Given the description of an element on the screen output the (x, y) to click on. 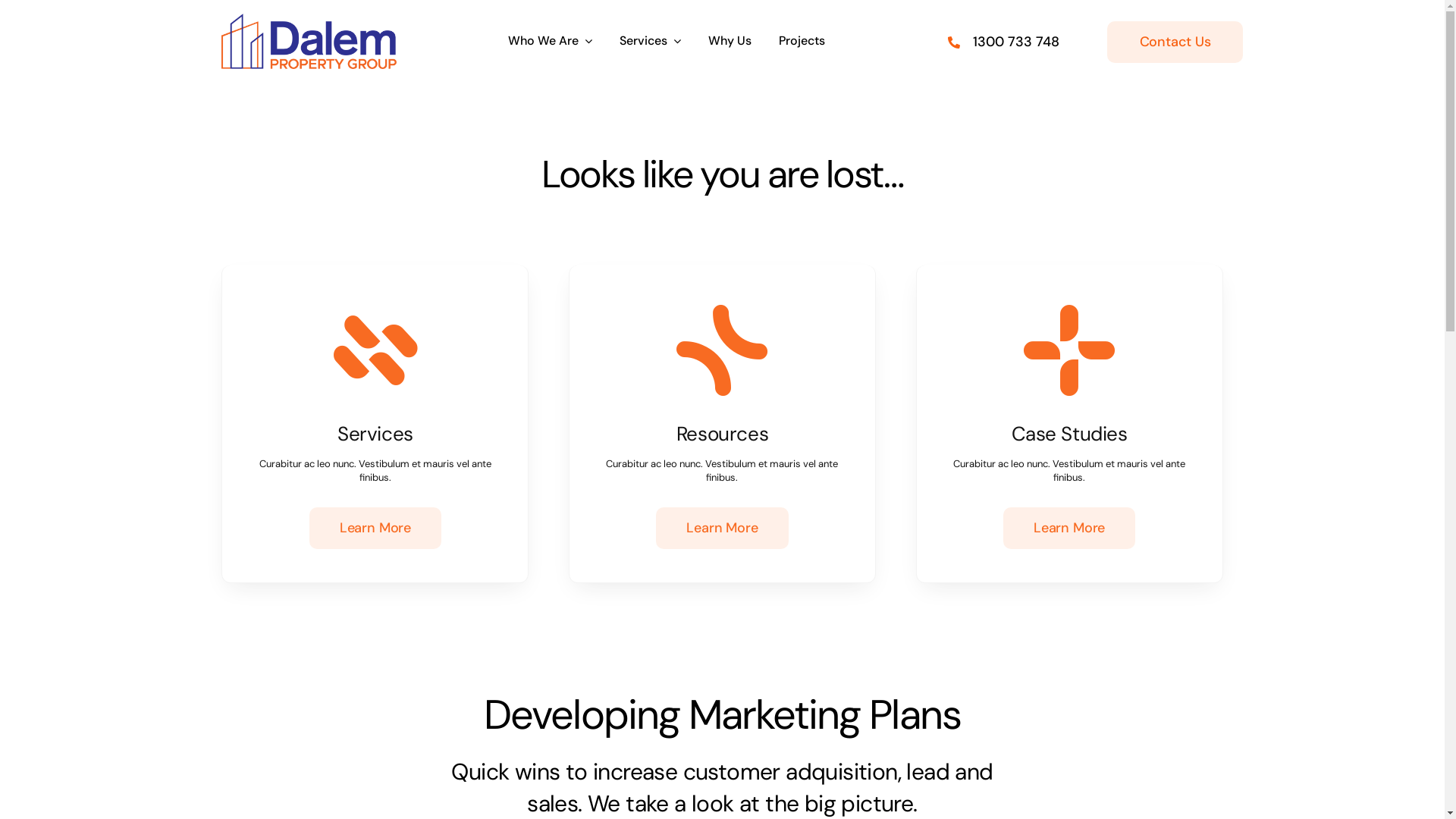
Learn More Element type: text (1069, 528)
Projects Element type: text (801, 41)
Who We Are Element type: text (549, 41)
Learn More Element type: text (721, 528)
Learn More Element type: text (375, 528)
Contact Us Element type: text (1174, 41)
Services Element type: text (650, 41)
1300 733 748 Element type: text (1015, 42)
Why Us Element type: text (729, 41)
